Given the description of an element on the screen output the (x, y) to click on. 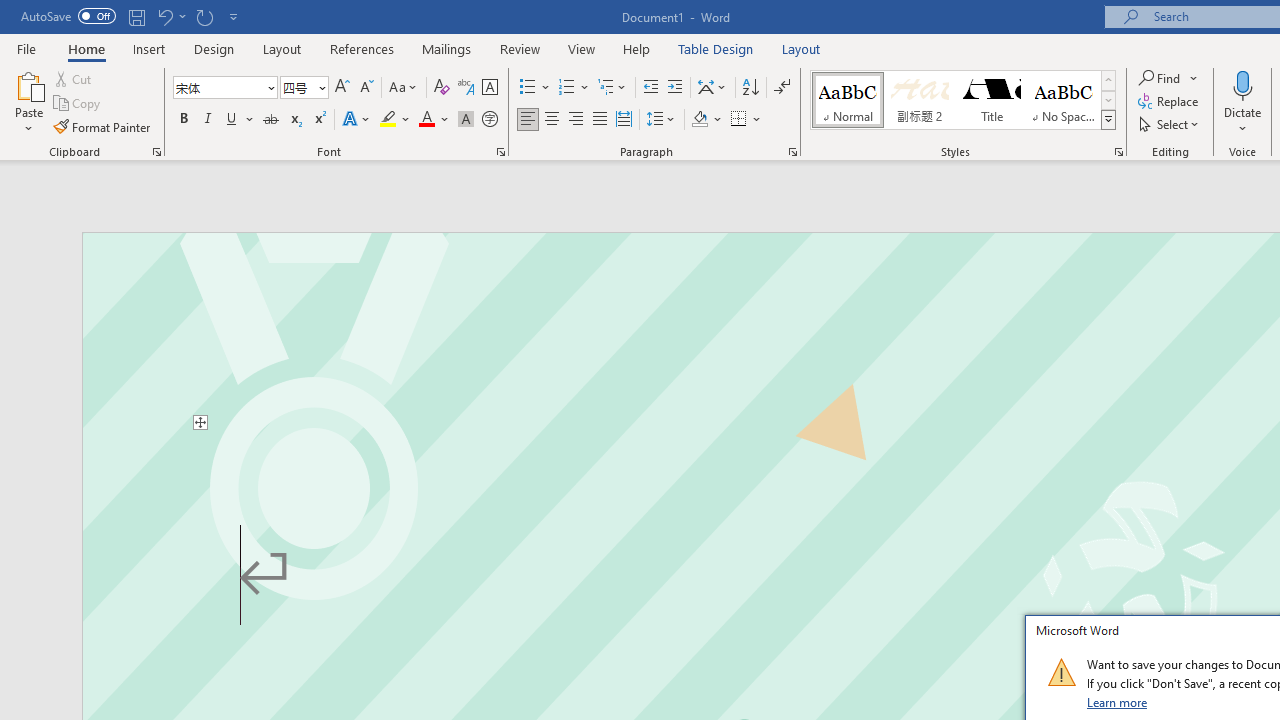
Learn more (1118, 702)
